Given the description of an element on the screen output the (x, y) to click on. 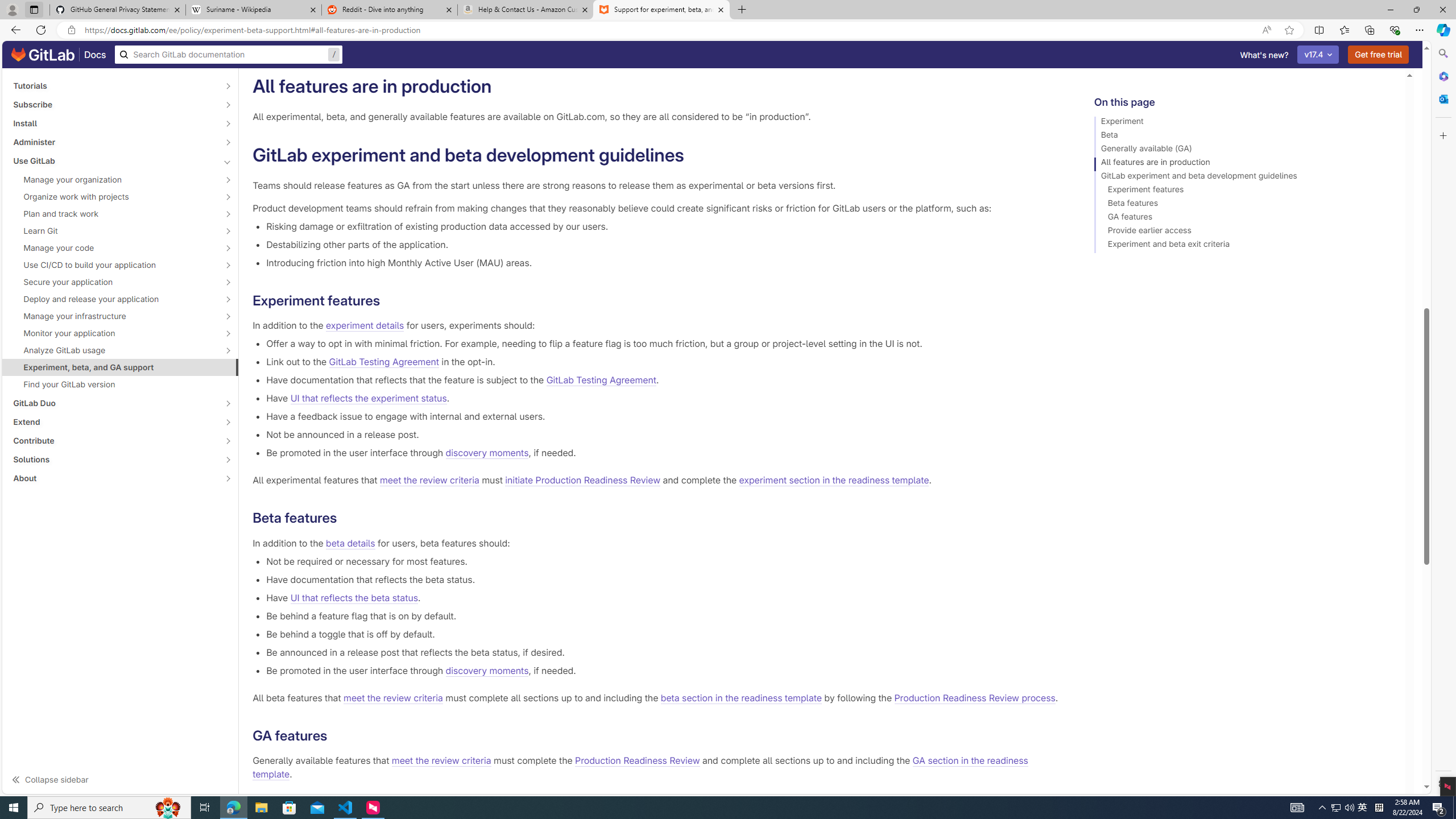
meet the review criteria (441, 761)
GitLab documentation home Docs (58, 53)
Contribute (113, 440)
Install (113, 122)
Experiment, beta, and GA support (120, 366)
Solutions (113, 459)
Beta features (1244, 205)
GitLab experiment and beta development guidelines (1244, 177)
GA features (1244, 218)
What's new? (1263, 54)
Not be required or necessary for most features. (662, 560)
